Given the description of an element on the screen output the (x, y) to click on. 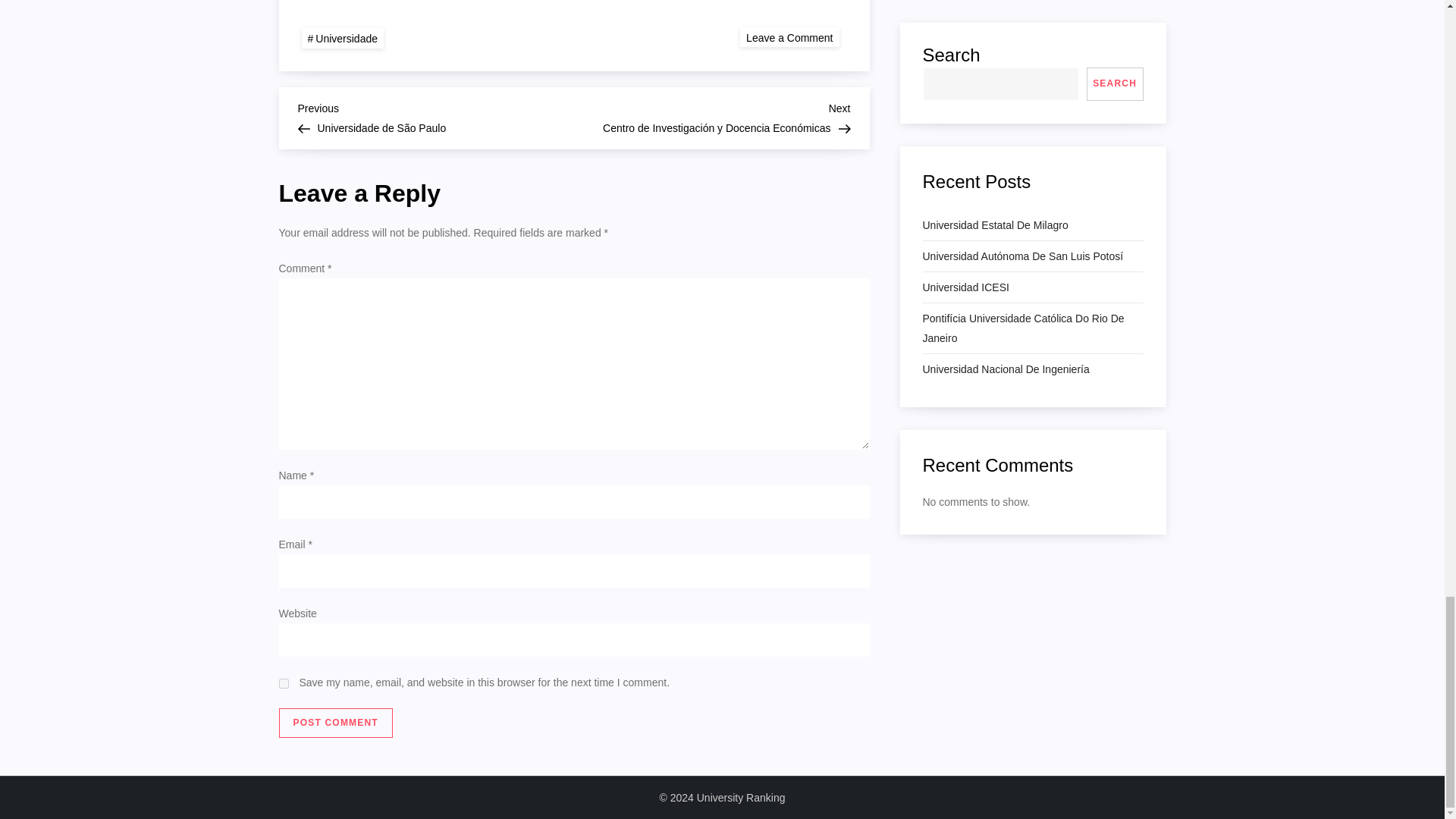
Universidade (342, 37)
Post Comment (336, 723)
Post Comment (788, 36)
yes (336, 723)
